Given the description of an element on the screen output the (x, y) to click on. 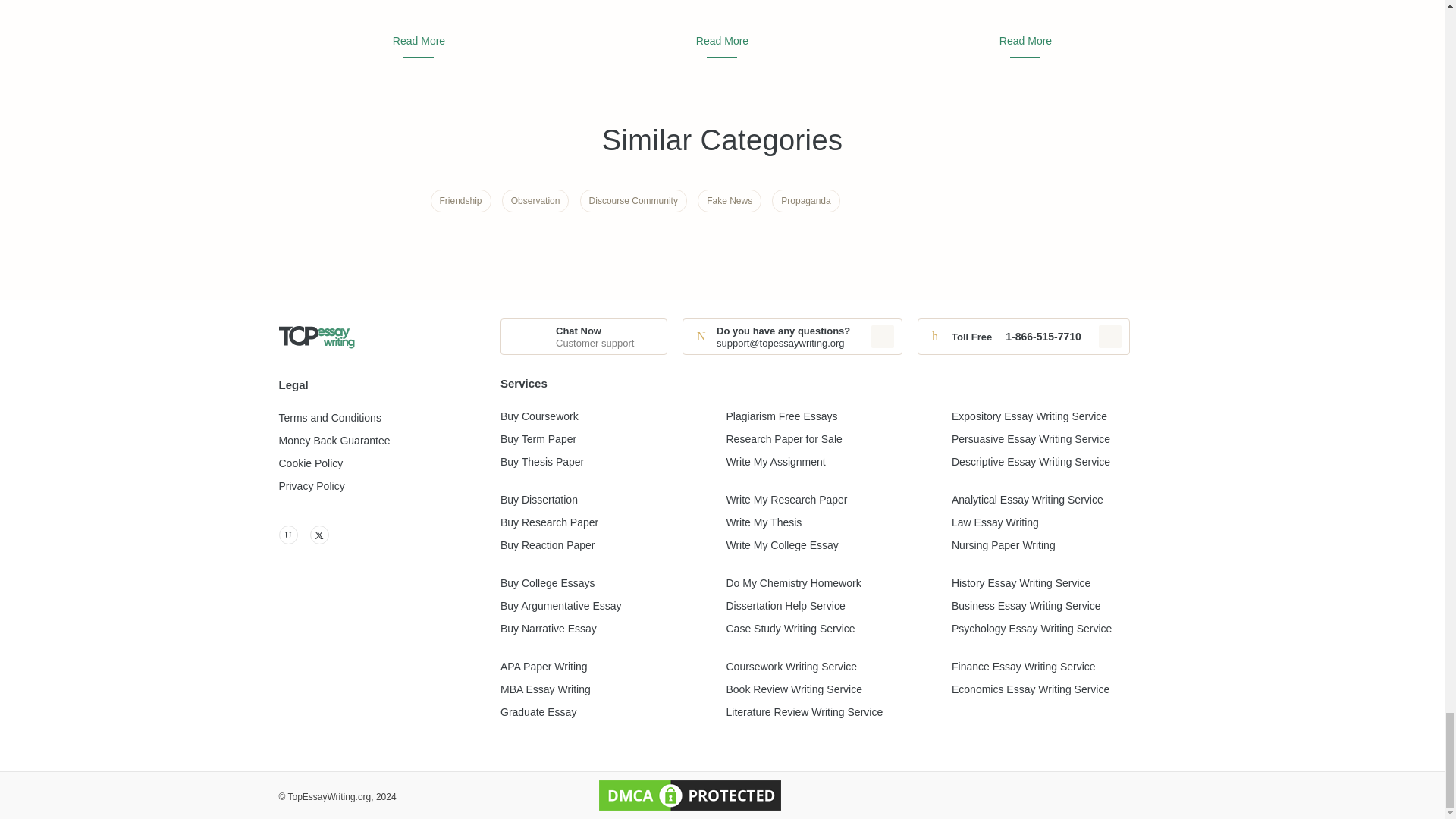
Copied to clipboard (1110, 336)
Copied to clipboard (881, 336)
DMCA.com Protection Status (689, 795)
